Given the description of an element on the screen output the (x, y) to click on. 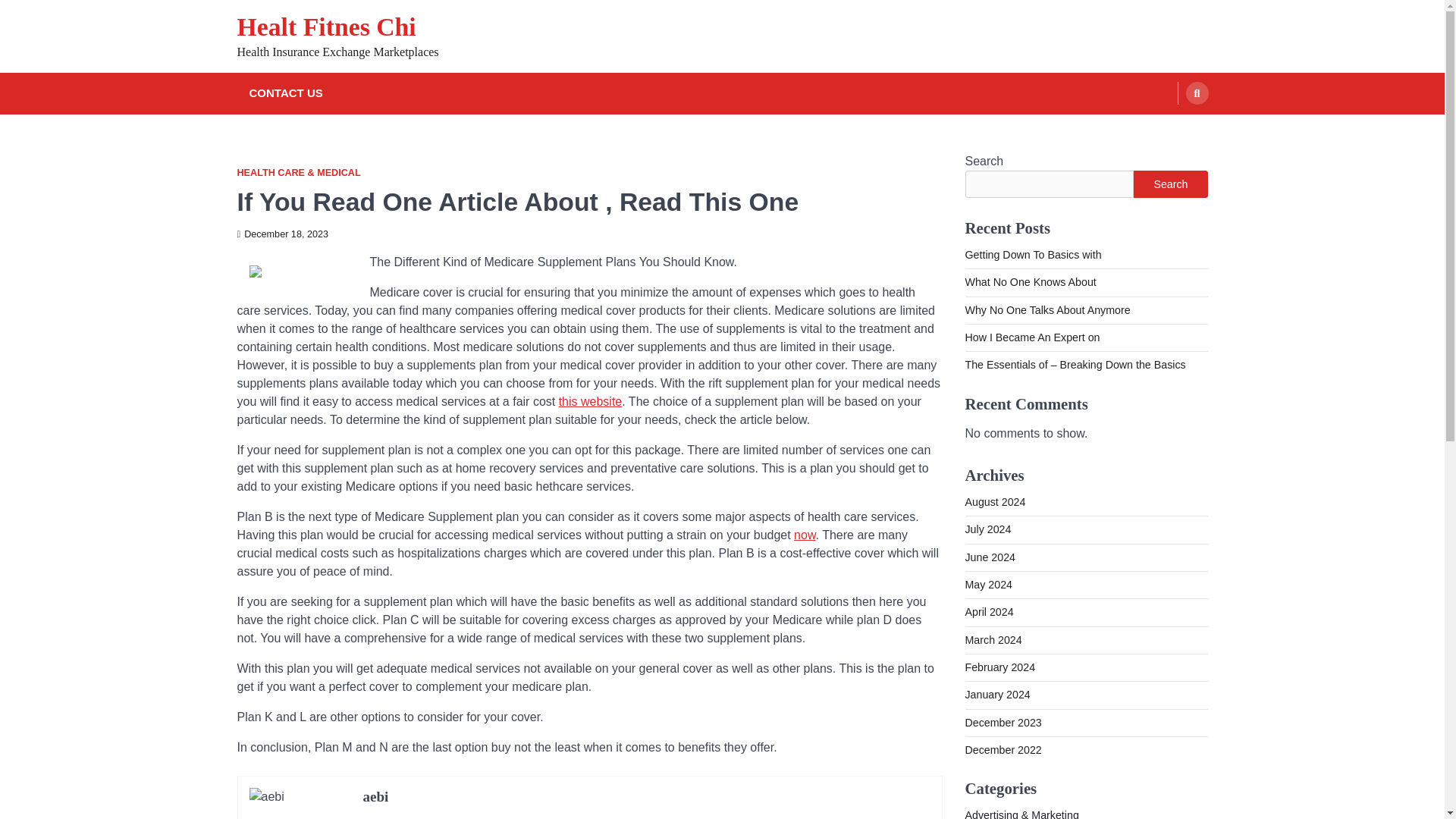
August 2024 (994, 501)
What No One Knows About (1029, 282)
CONTACT US (286, 93)
February 2024 (999, 666)
this website (591, 400)
March 2024 (992, 639)
January 2024 (996, 694)
December 2022 (1002, 749)
Healt Fitnes Chi (324, 26)
Getting Down To Basics with (1031, 254)
How I Became An Expert on (1031, 337)
July 2024 (986, 529)
Search (1170, 184)
May 2024 (987, 584)
June 2024 (988, 557)
